Given the description of an element on the screen output the (x, y) to click on. 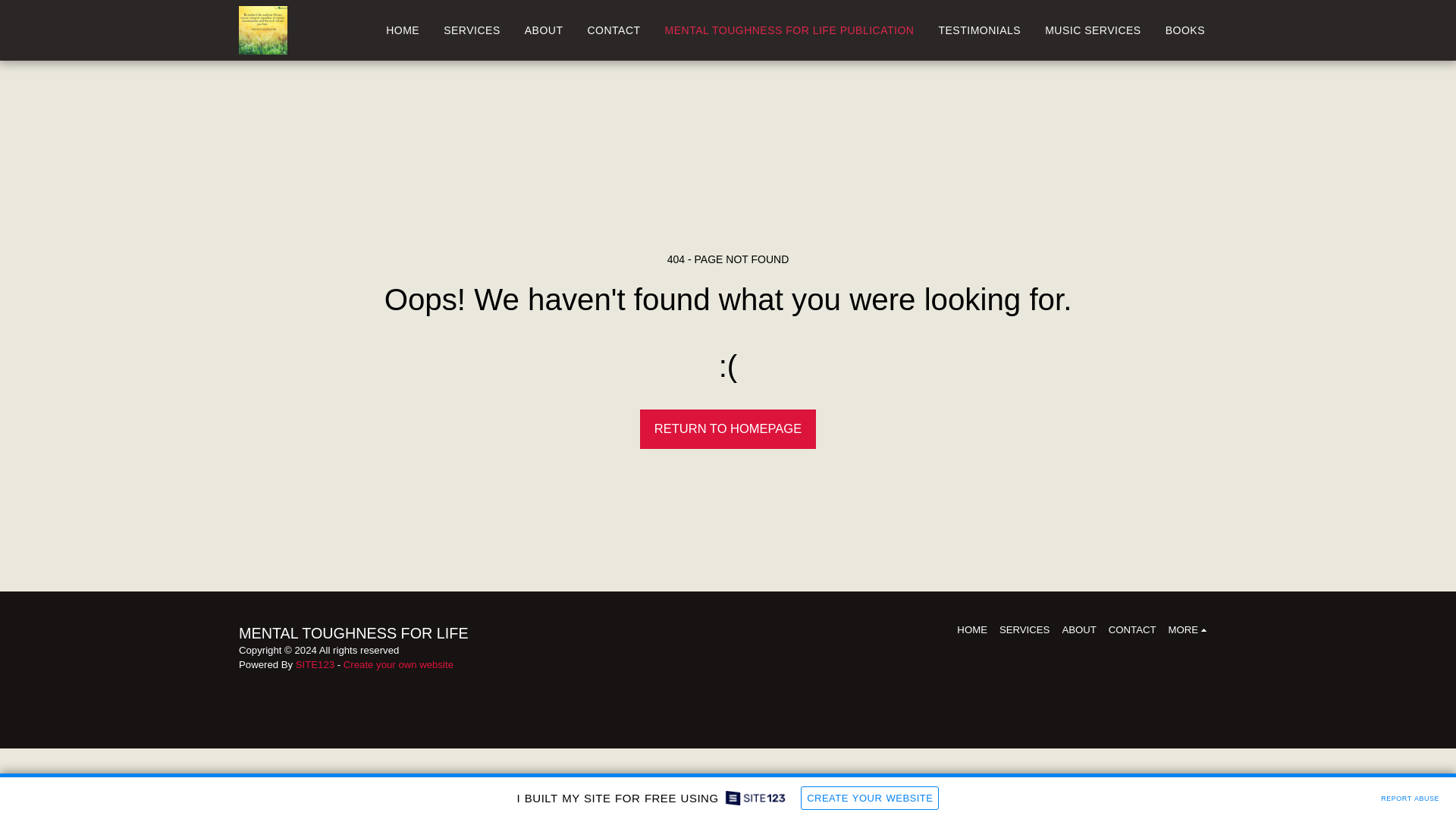
BOOKS (1184, 29)
MORE   (1190, 630)
REPORT ABUSE (1409, 796)
ABOUT (1078, 630)
SERVICES (472, 29)
Create your own website (397, 664)
RETURN TO HOMEPAGE (728, 428)
SERVICES (1023, 630)
MENTAL TOUGHNESS FOR LIFE PUBLICATION (789, 29)
CONTACT (1132, 630)
ABOUT (544, 29)
HOME (402, 29)
CONTACT (612, 29)
TESTIMONIALS (979, 29)
SITE123 (314, 664)
